Given the description of an element on the screen output the (x, y) to click on. 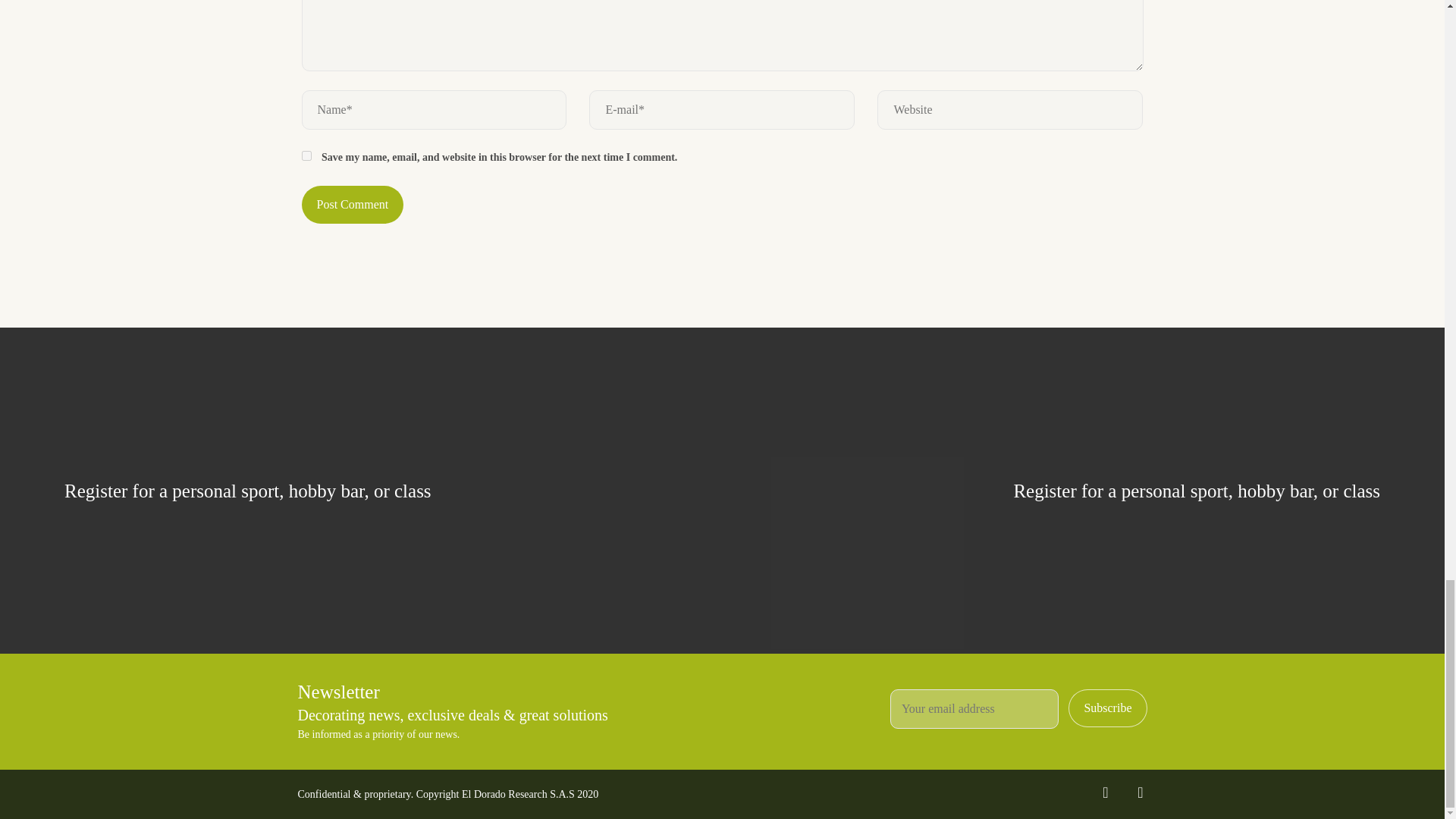
Post Comment (352, 204)
yes (306, 155)
Post Comment (352, 204)
Subscribe (1107, 708)
Subscribe (1107, 708)
